Given the description of an element on the screen output the (x, y) to click on. 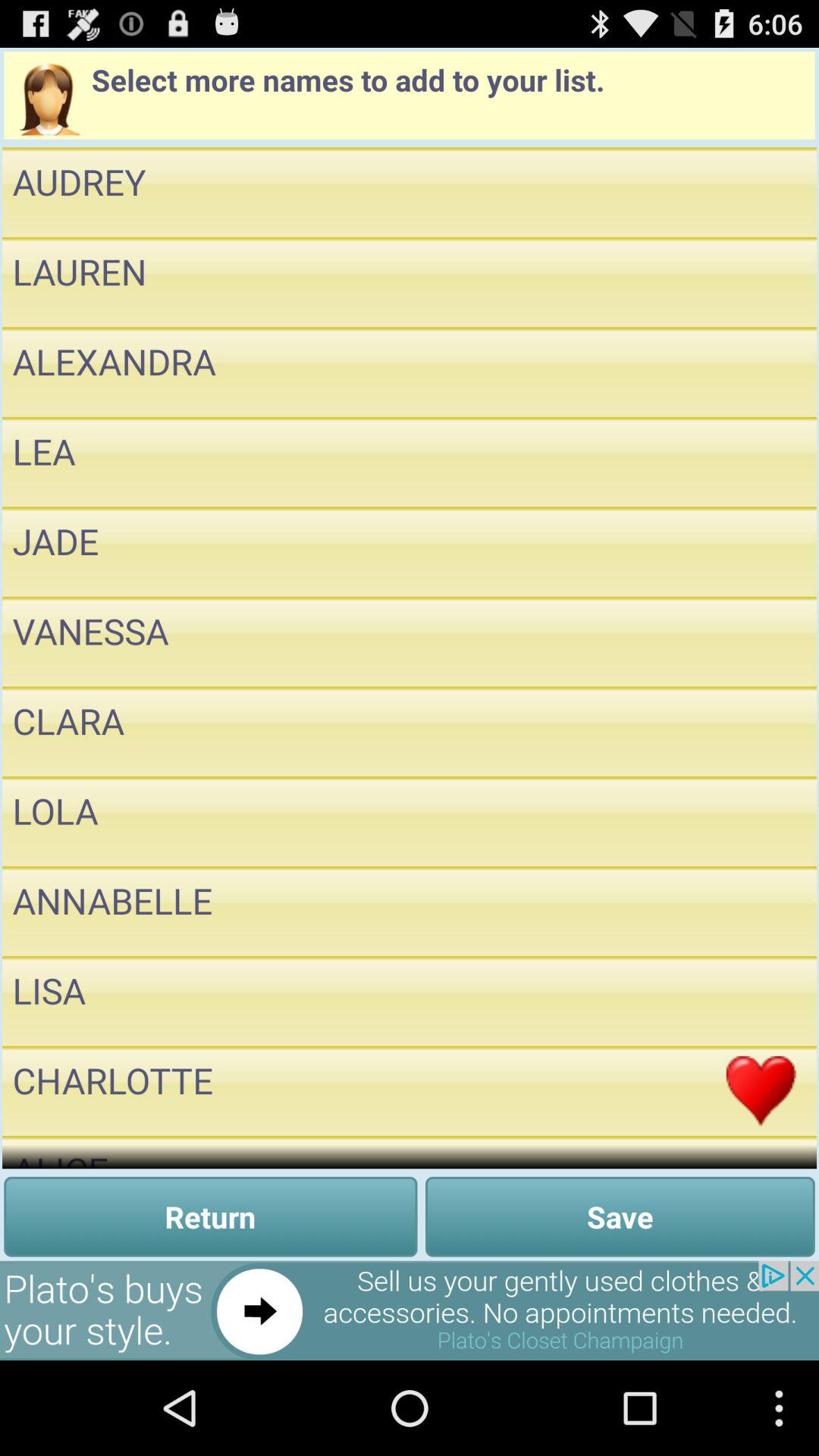
details about advertisement (409, 1310)
